Given the description of an element on the screen output the (x, y) to click on. 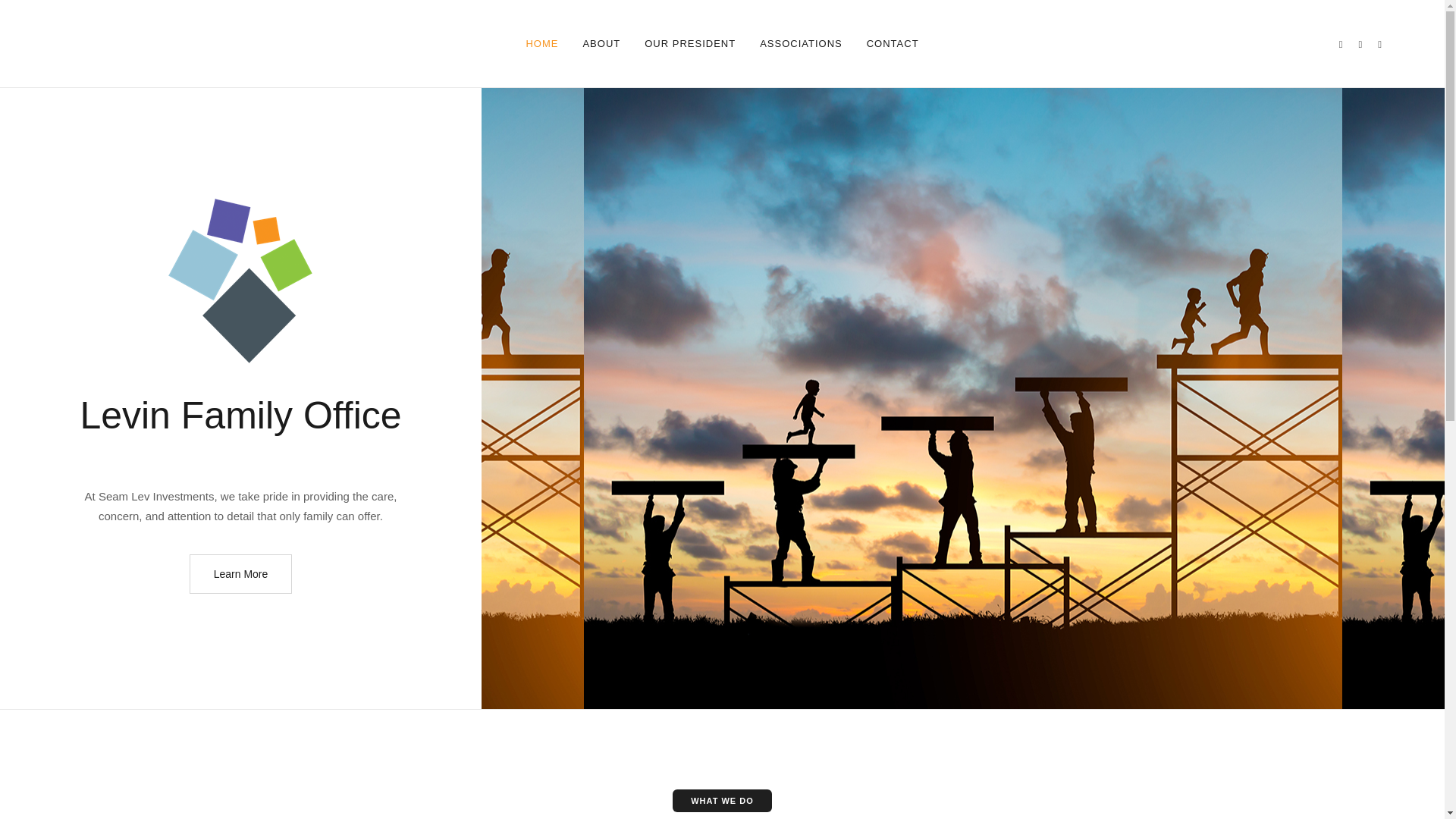
Learn More (240, 573)
OUR PRESIDENT (689, 43)
ASSOCIATIONS (801, 43)
